Given the description of an element on the screen output the (x, y) to click on. 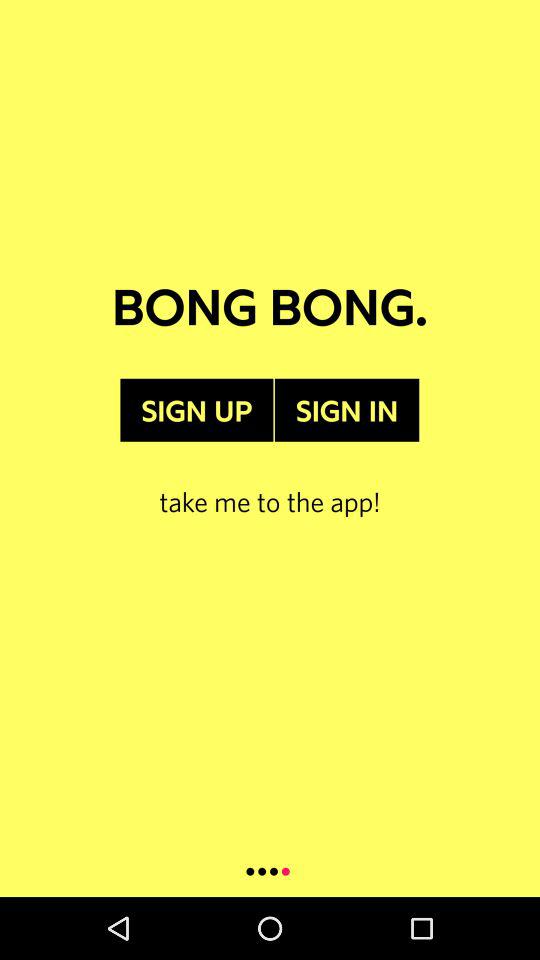
turn on item next to the sign in icon (196, 409)
